Given the description of an element on the screen output the (x, y) to click on. 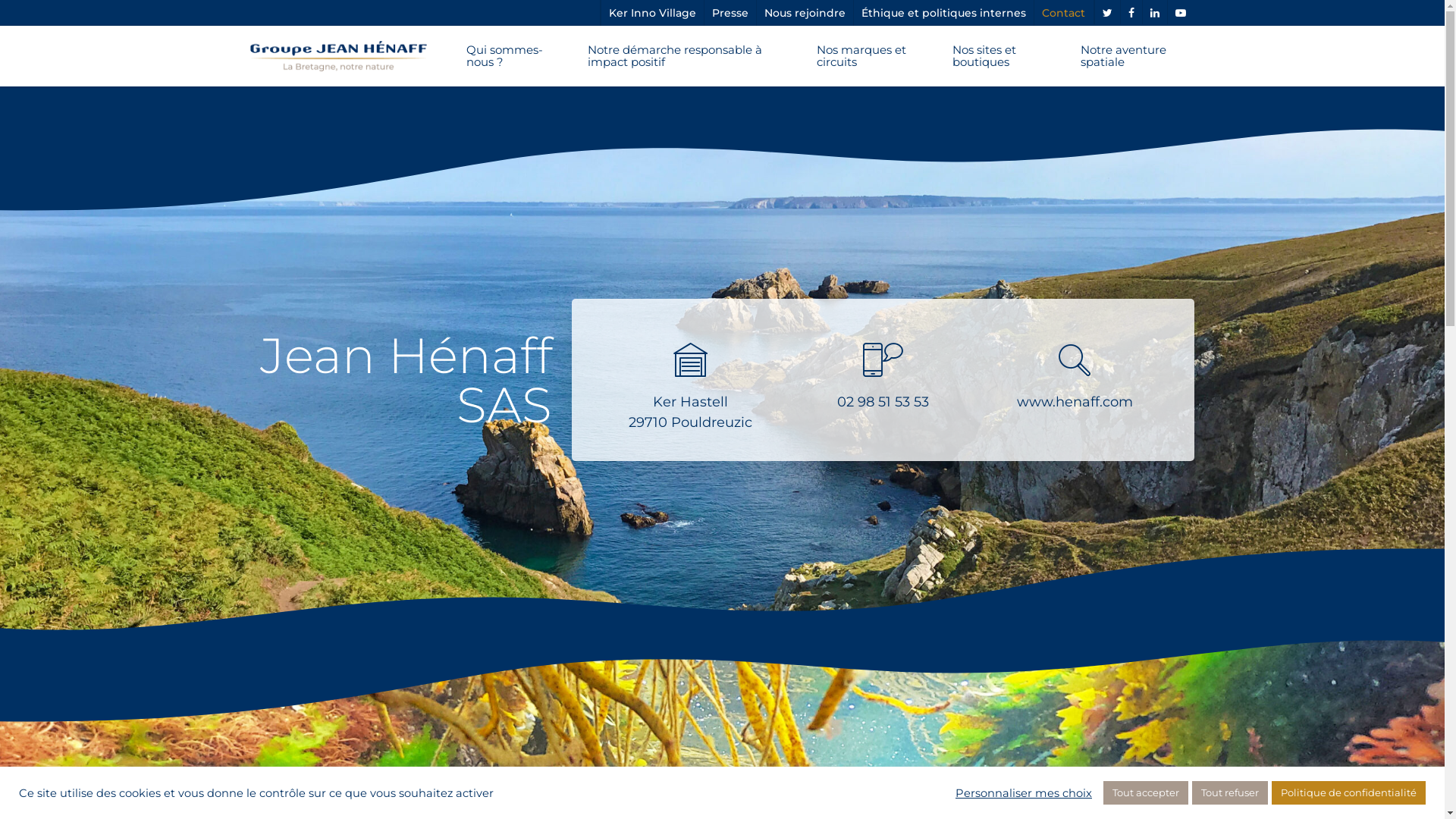
Tout refuser Element type: text (1229, 792)
Personnaliser mes choix Element type: text (1023, 792)
Nos marques et circuits Element type: text (862, 55)
Contact Element type: text (1062, 12)
Tout accepter Element type: text (1145, 792)
www.henaff.com Element type: text (1074, 401)
Notre aventure spatiale Element type: text (1126, 55)
Qui sommes-nous ? Element type: text (505, 55)
Nos sites et boutiques Element type: text (995, 55)
Nous rejoindre Element type: text (804, 12)
Ker Inno Village Element type: text (651, 12)
Presse Element type: text (729, 12)
